Given the description of an element on the screen output the (x, y) to click on. 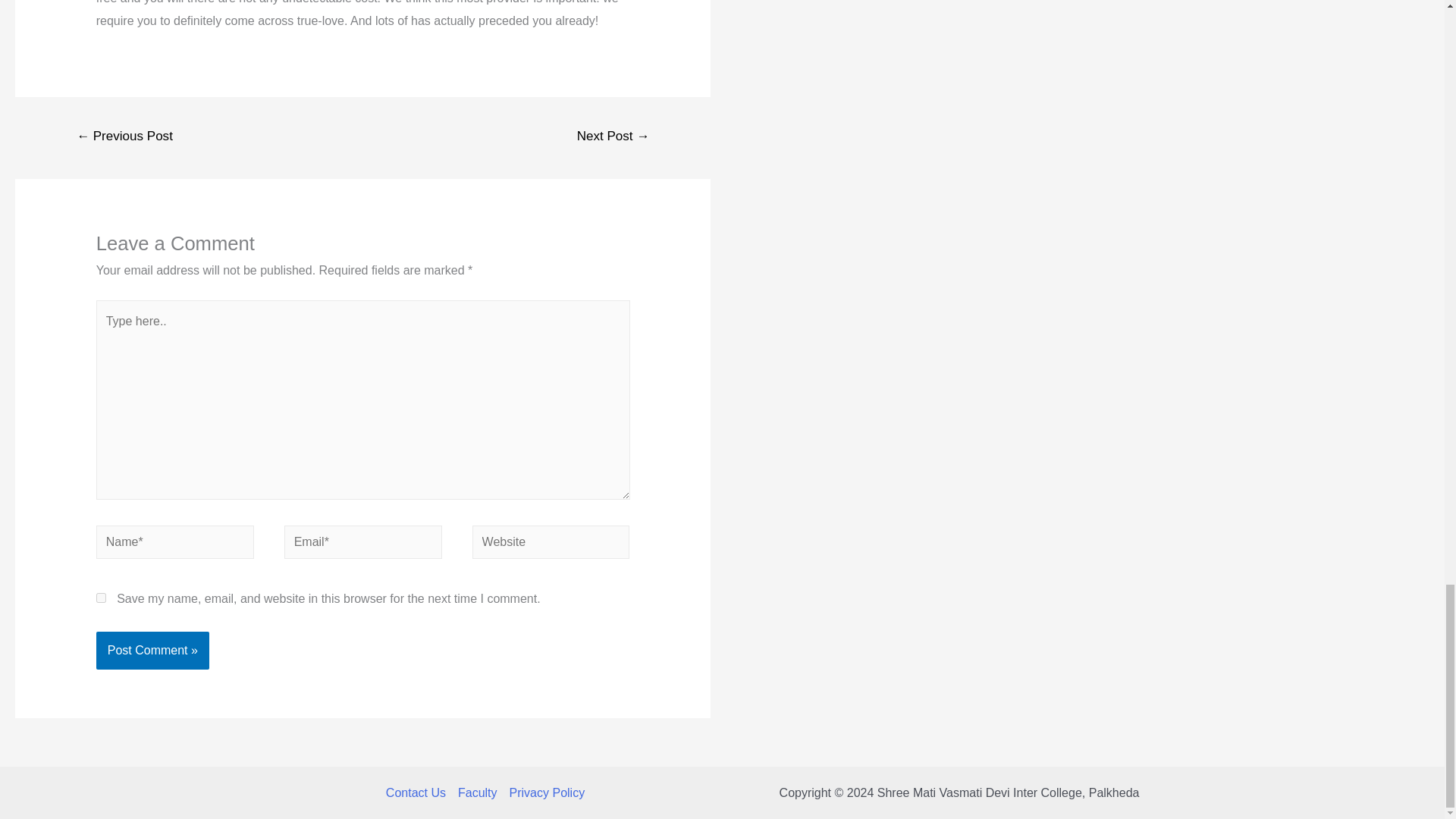
Contact Us (418, 793)
yes (101, 597)
Faculty (477, 793)
Privacy Policy (544, 793)
